Given the description of an element on the screen output the (x, y) to click on. 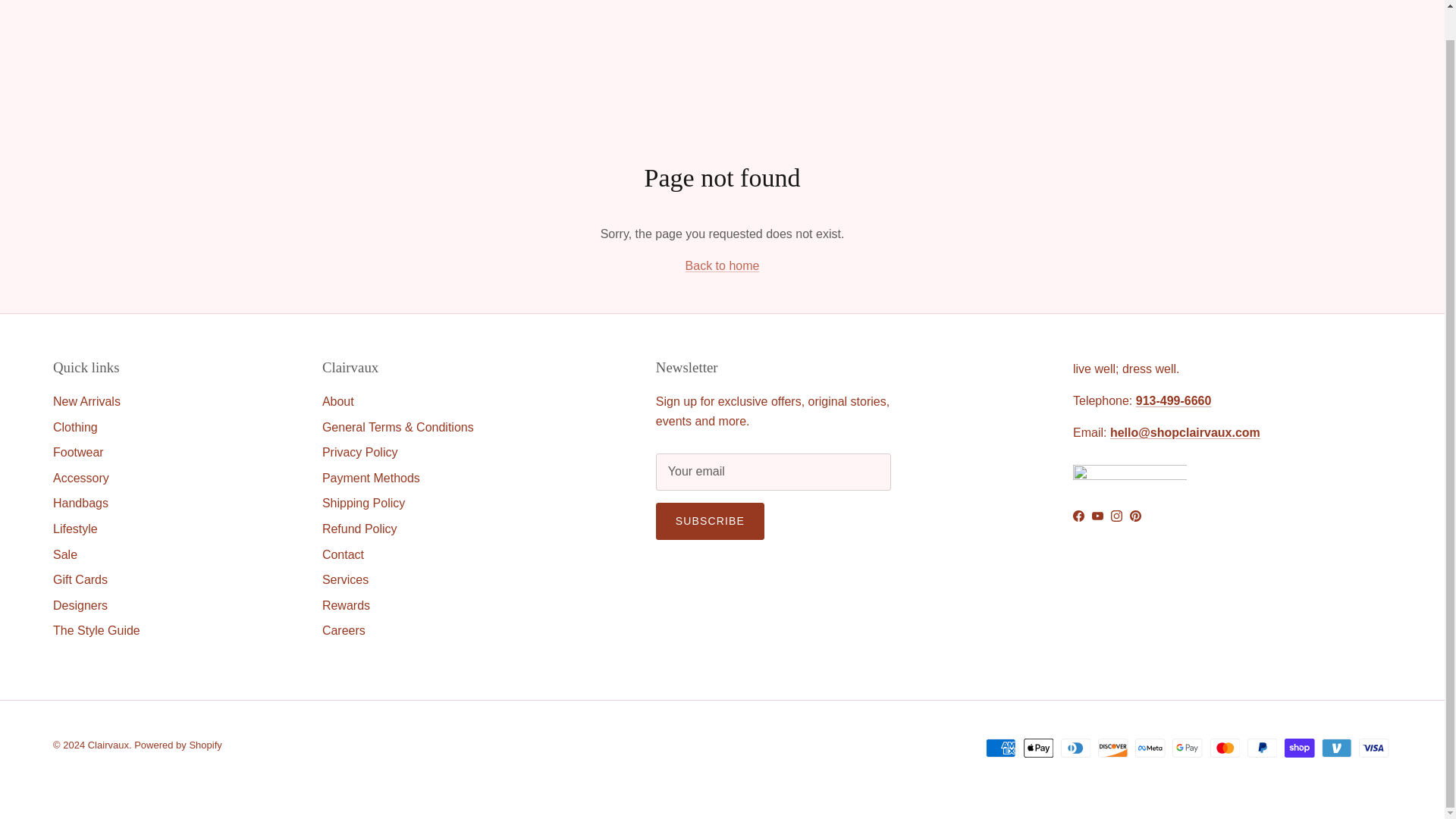
Venmo (1336, 747)
Apple Pay (1038, 747)
Shop Pay (1299, 747)
PayPal (1261, 747)
American Express (1000, 747)
Clairvaux on Instagram (1116, 515)
Mastercard (1224, 747)
Discover (1112, 747)
Clairvaux on Pinterest (1135, 515)
Diners Club (1075, 747)
